Given the description of an element on the screen output the (x, y) to click on. 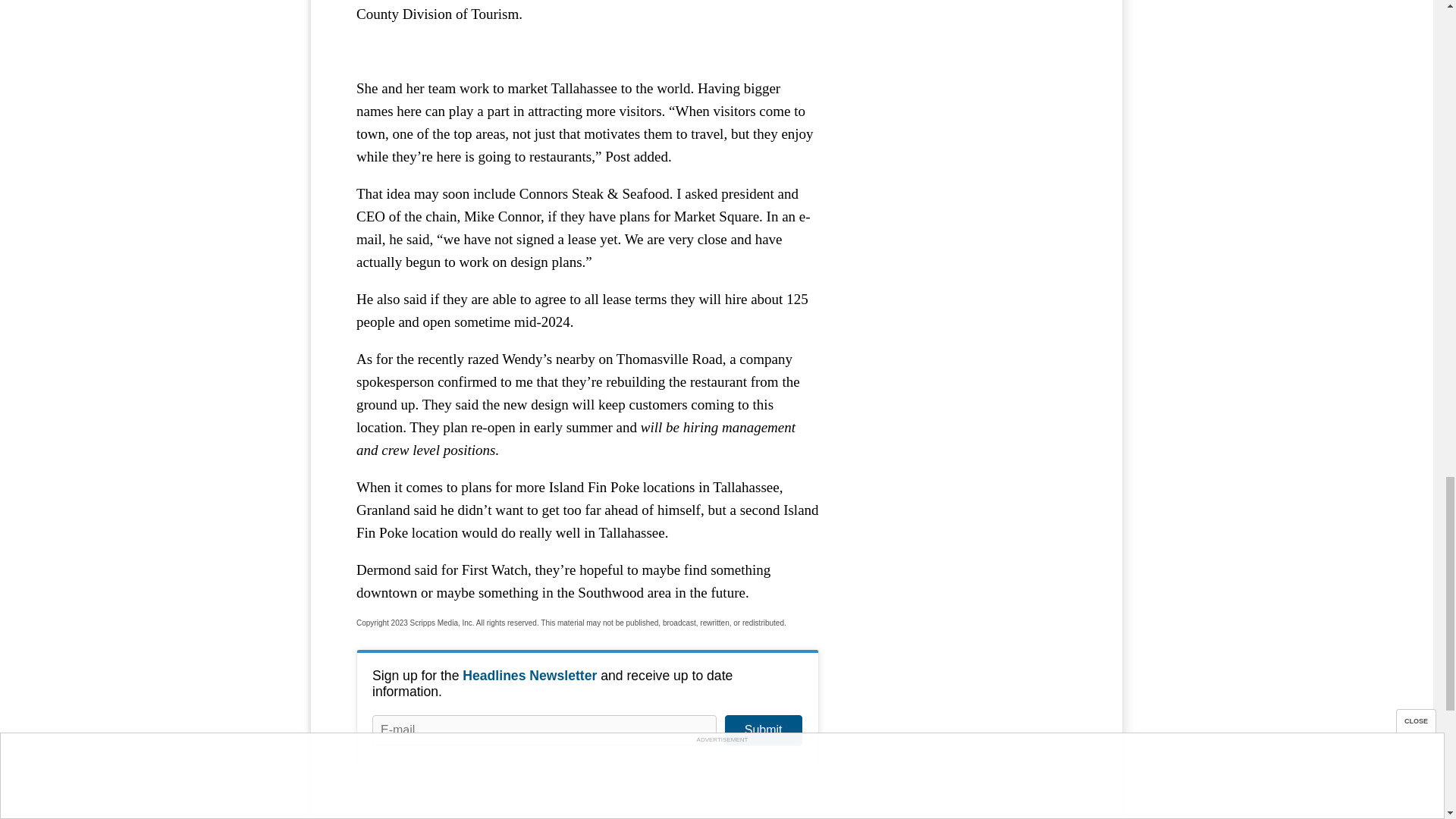
Submit (763, 729)
